Given the description of an element on the screen output the (x, y) to click on. 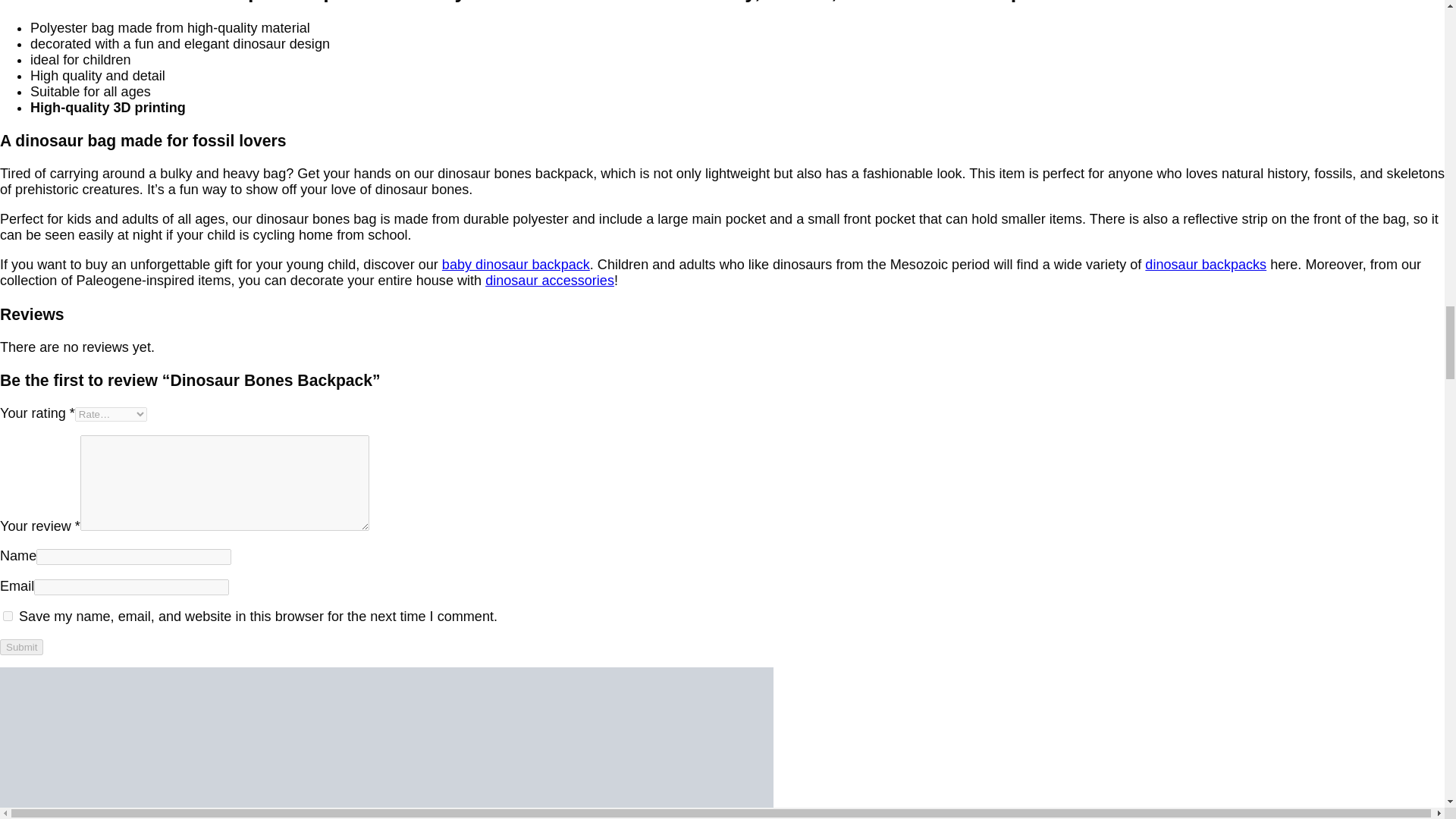
yes (7, 615)
Submit (21, 647)
